Given the description of an element on the screen output the (x, y) to click on. 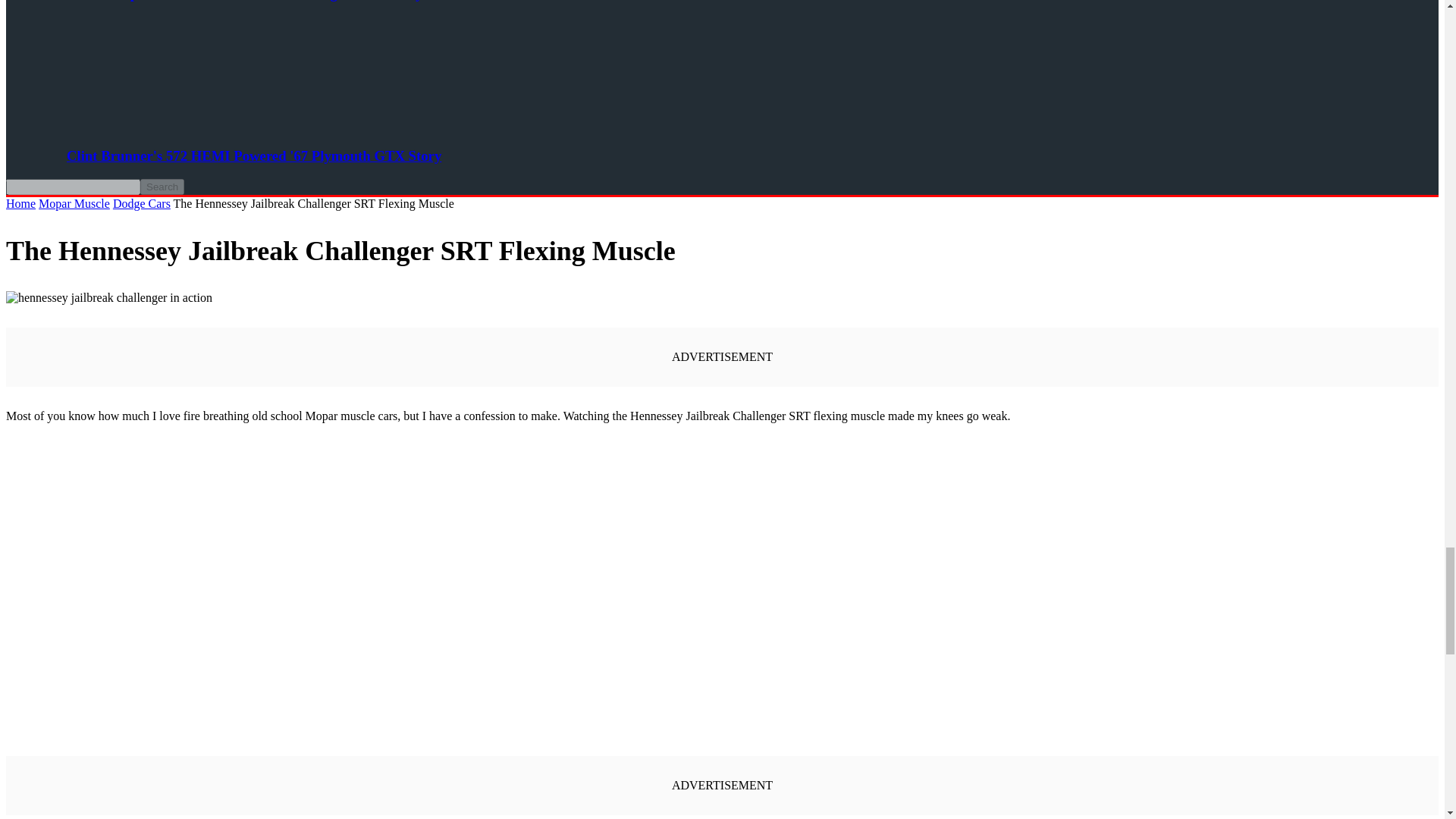
Search (161, 186)
